Given the description of an element on the screen output the (x, y) to click on. 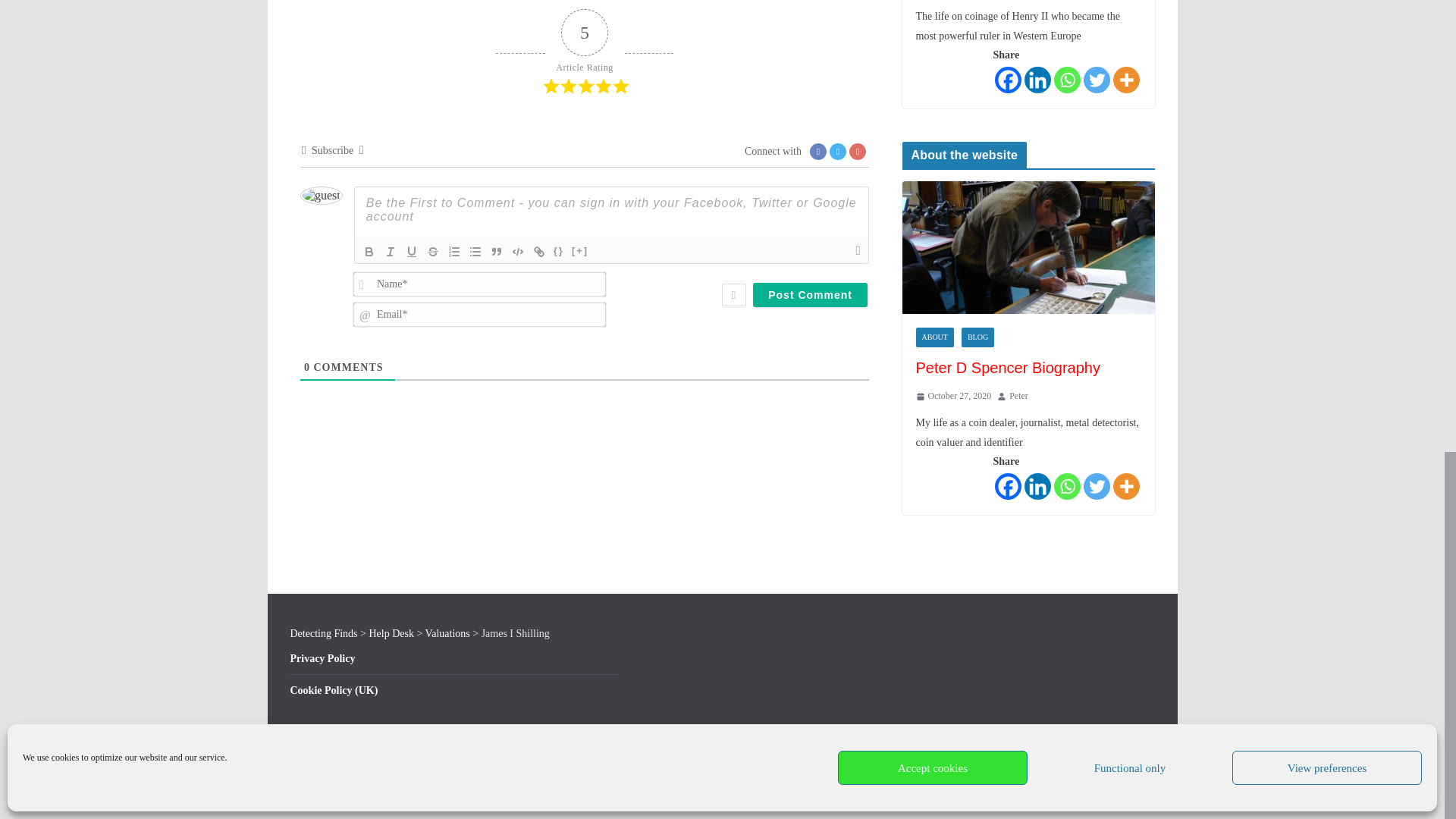
Bold (369, 251)
Code Block (517, 251)
Italic (390, 251)
Ordered List (454, 251)
Post Comment (809, 294)
Strike (433, 251)
Blockquote (496, 251)
Underline (411, 251)
Unordered List (475, 251)
